Given the description of an element on the screen output the (x, y) to click on. 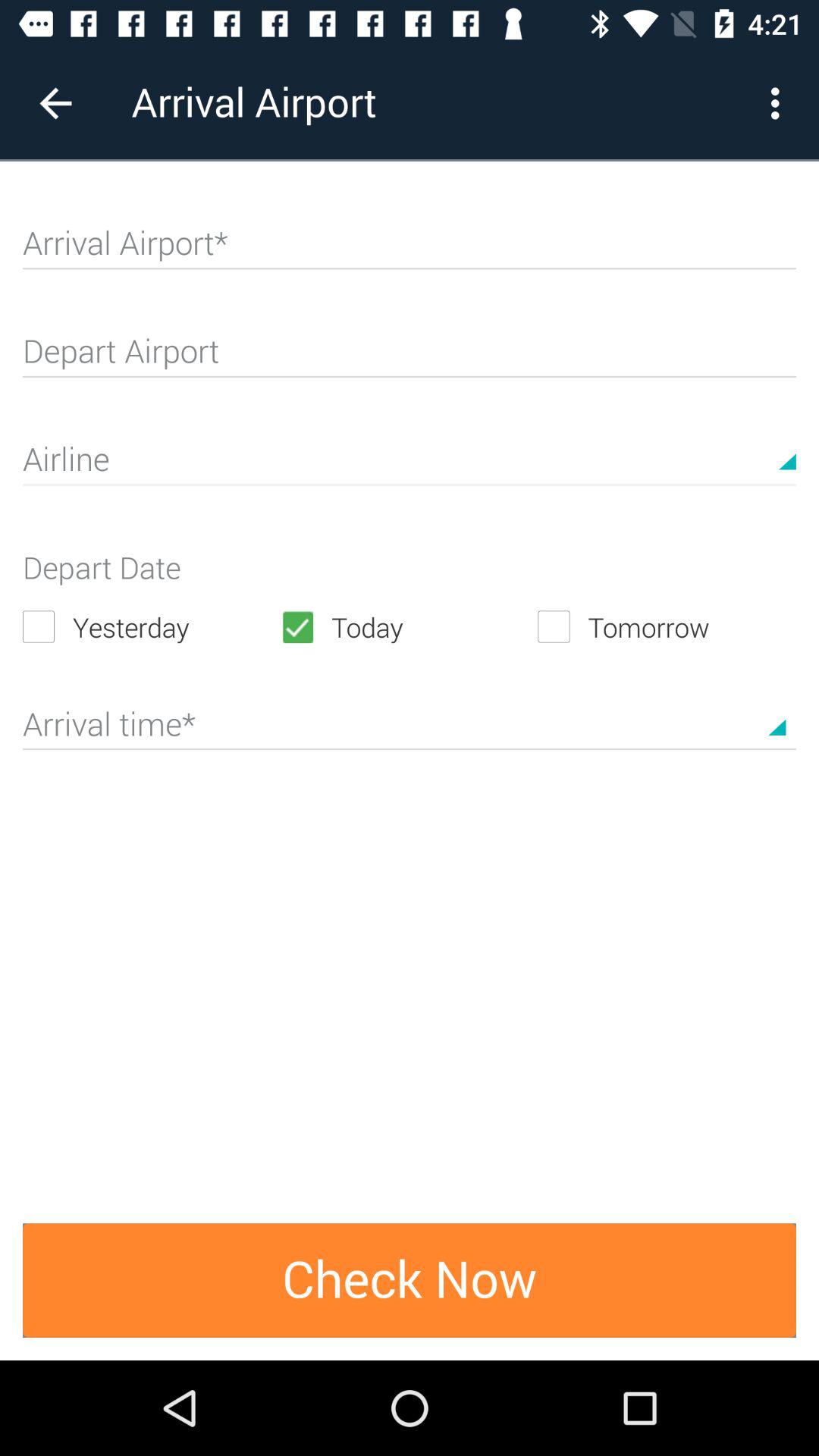
press item next to today (151, 626)
